Given the description of an element on the screen output the (x, y) to click on. 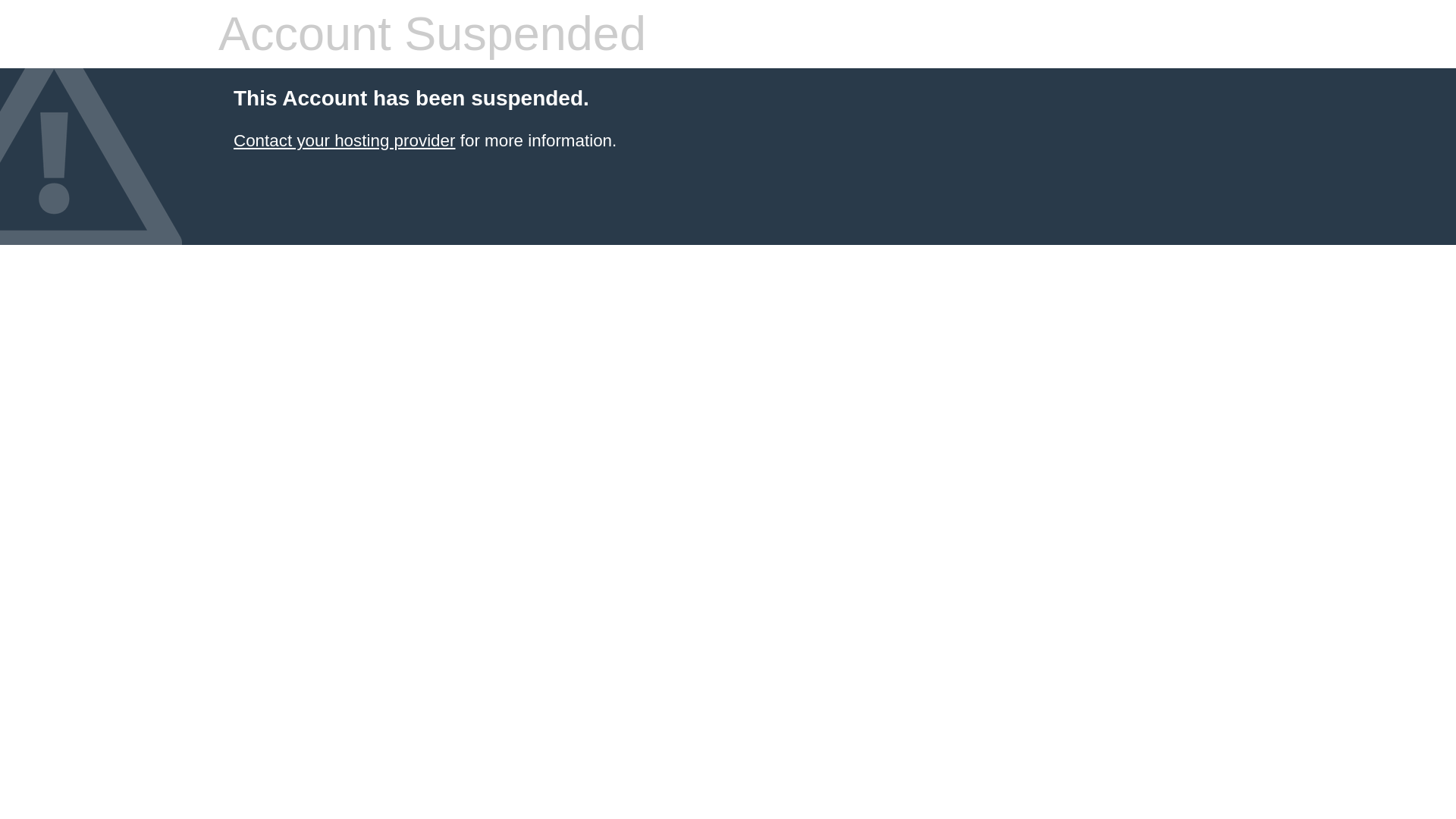
Contact your hosting provider (343, 140)
